Given the description of an element on the screen output the (x, y) to click on. 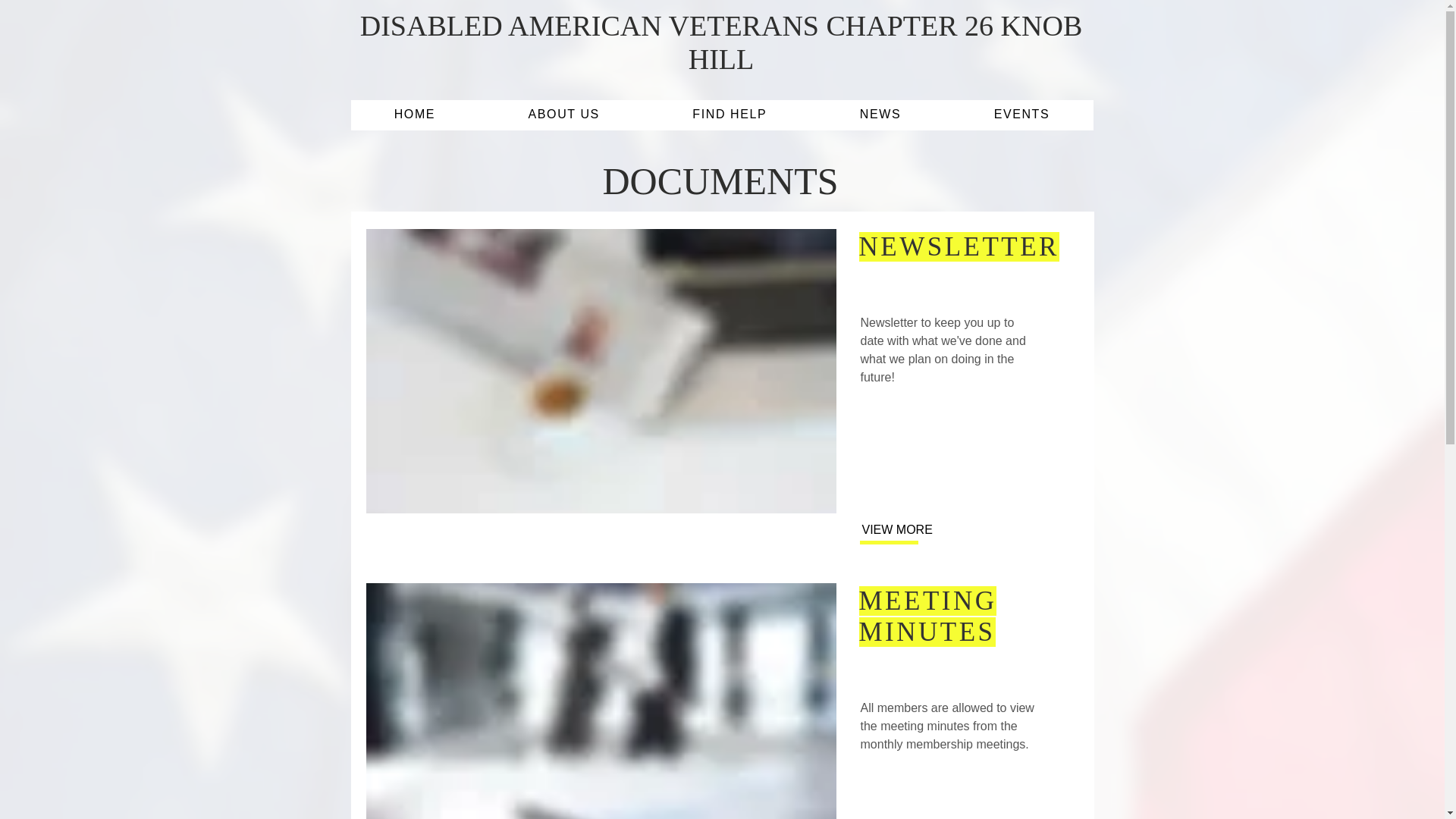
FIND HELP (729, 114)
HOME (414, 114)
NEWS (880, 114)
EVENTS (1021, 114)
ABOUT US (563, 114)
